Given the description of an element on the screen output the (x, y) to click on. 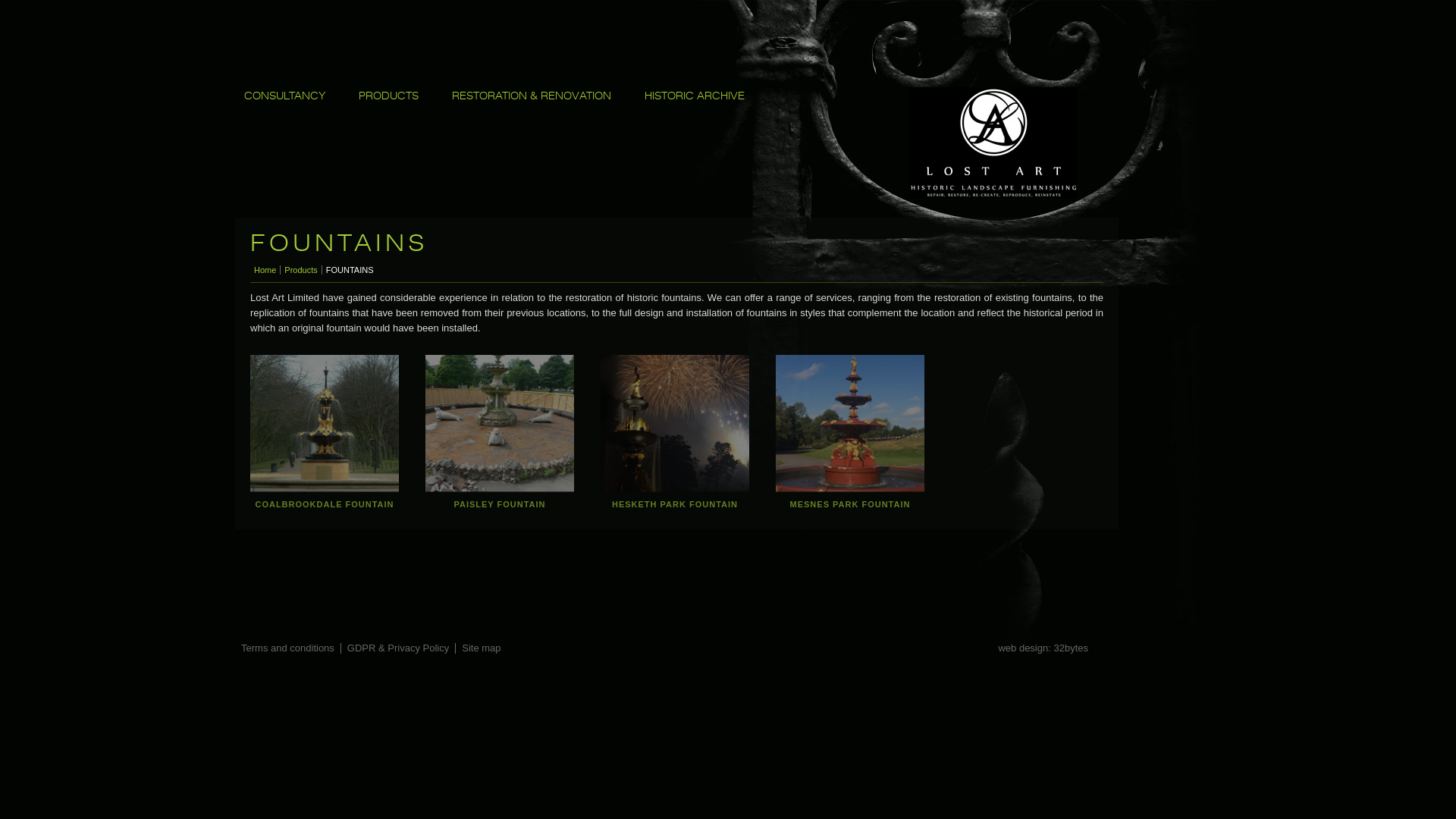
HESKETH PARK FOUNTAIN Element type: text (674, 421)
PRODUCTS Element type: text (388, 97)
HISTORIC ARCHIVE Element type: text (694, 97)
web design Element type: text (1022, 647)
32bytes Element type: text (1070, 647)
PAISLEY FOUNTAIN Element type: text (499, 421)
GDPR & Privacy Policy Element type: text (397, 647)
RESTORATION & RENOVATION Element type: text (531, 97)
Products Element type: text (300, 269)
COALBROOKDALE FOUNTAIN Element type: text (324, 421)
MESNES PARK FOUNTAIN Element type: text (849, 421)
CONSULTANCY Element type: text (284, 97)
Home Element type: text (265, 269)
FOUNTAINS Element type: text (349, 269)
Terms and conditions Element type: text (287, 647)
Site map Element type: text (480, 647)
